Given the description of an element on the screen output the (x, y) to click on. 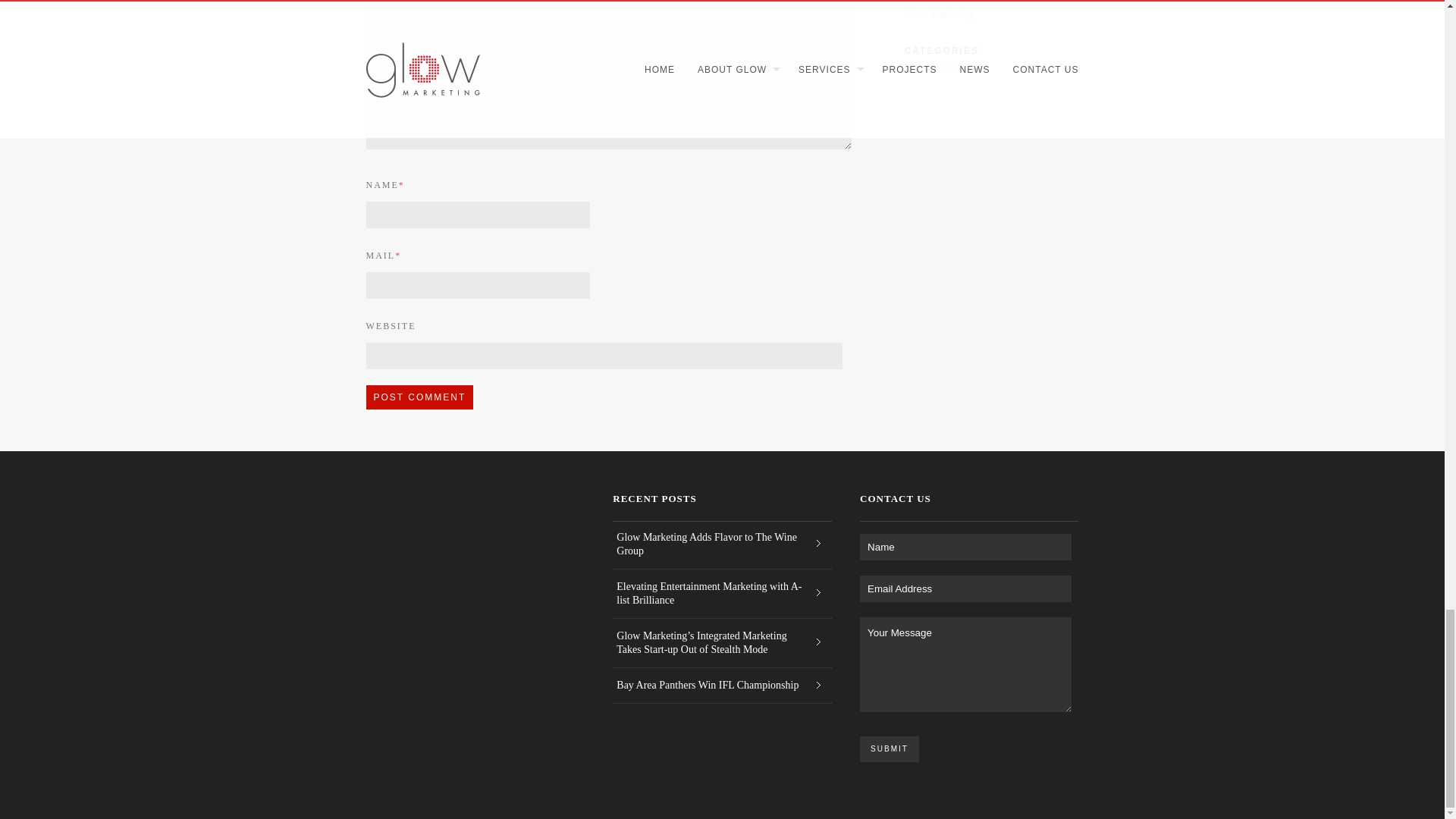
Posts by Glow Marketing (939, 14)
Email Address (965, 588)
Post Comment (419, 396)
Name (965, 546)
Submit (889, 749)
